Given the description of an element on the screen output the (x, y) to click on. 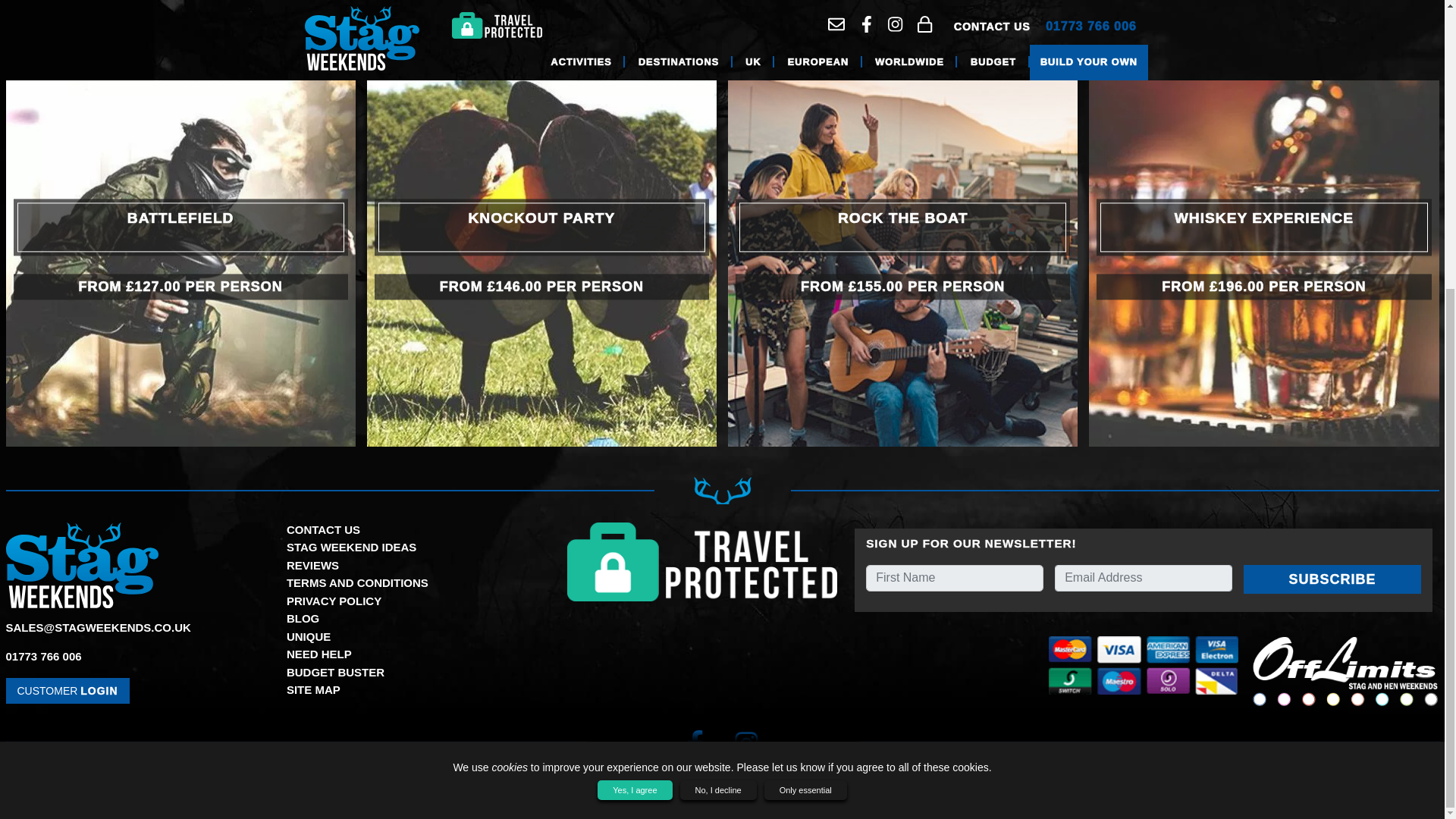
01773 766 006 (43, 656)
SITE MAP (313, 689)
PRIVACY POLICY (333, 600)
TERMS AND CONDITIONS (357, 582)
SUBSCRIBE (1332, 579)
BLOG (302, 617)
STAG WEEKEND IDEAS (351, 546)
REVIEWS (312, 564)
CONTACT US (322, 529)
NEED HELP (319, 653)
BACK TO MANCHESTER (1337, 31)
UNIQUE (308, 635)
BUDGET BUSTER (335, 671)
